Given the description of an element on the screen output the (x, y) to click on. 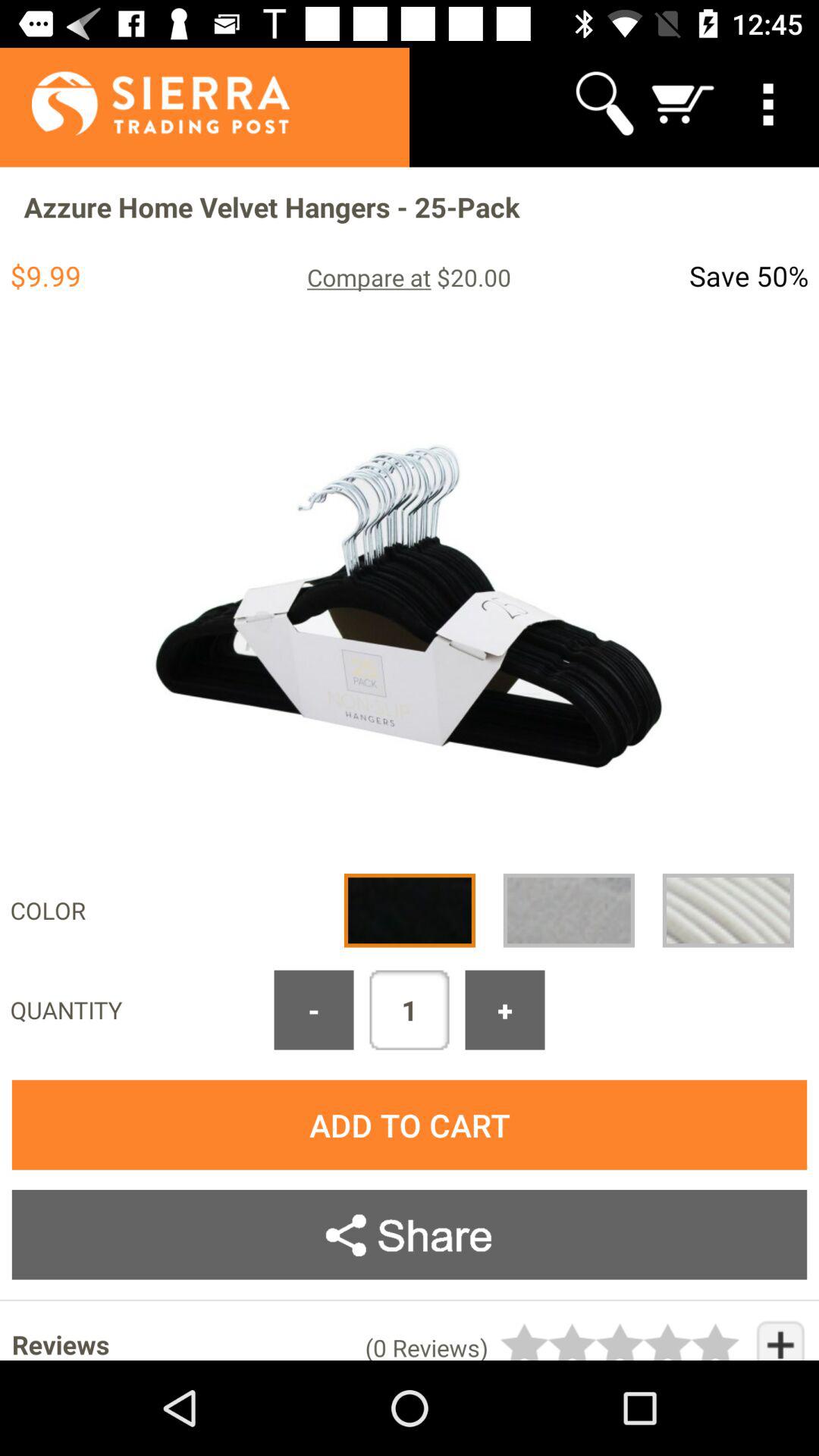
share button (409, 1234)
